Given the description of an element on the screen output the (x, y) to click on. 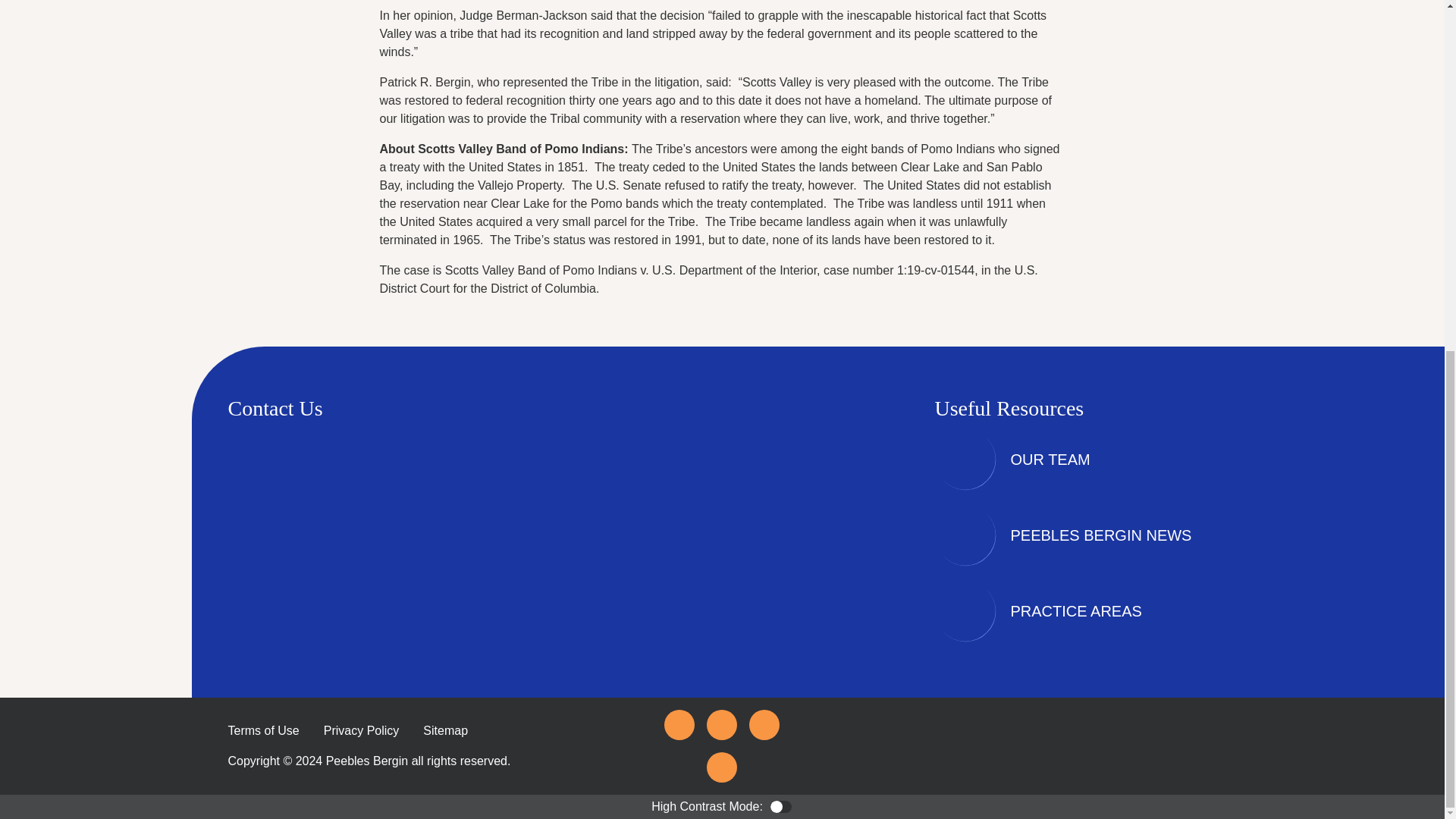
PRACTICE AREAS (1075, 610)
Privacy Policy (360, 730)
OUR TEAM (1049, 458)
LinkedIn (763, 725)
Instagram (721, 767)
Sitemap (445, 730)
Facebook (678, 725)
Instagram (721, 767)
Facebook (678, 725)
LinkedIn (763, 725)
